Given the description of an element on the screen output the (x, y) to click on. 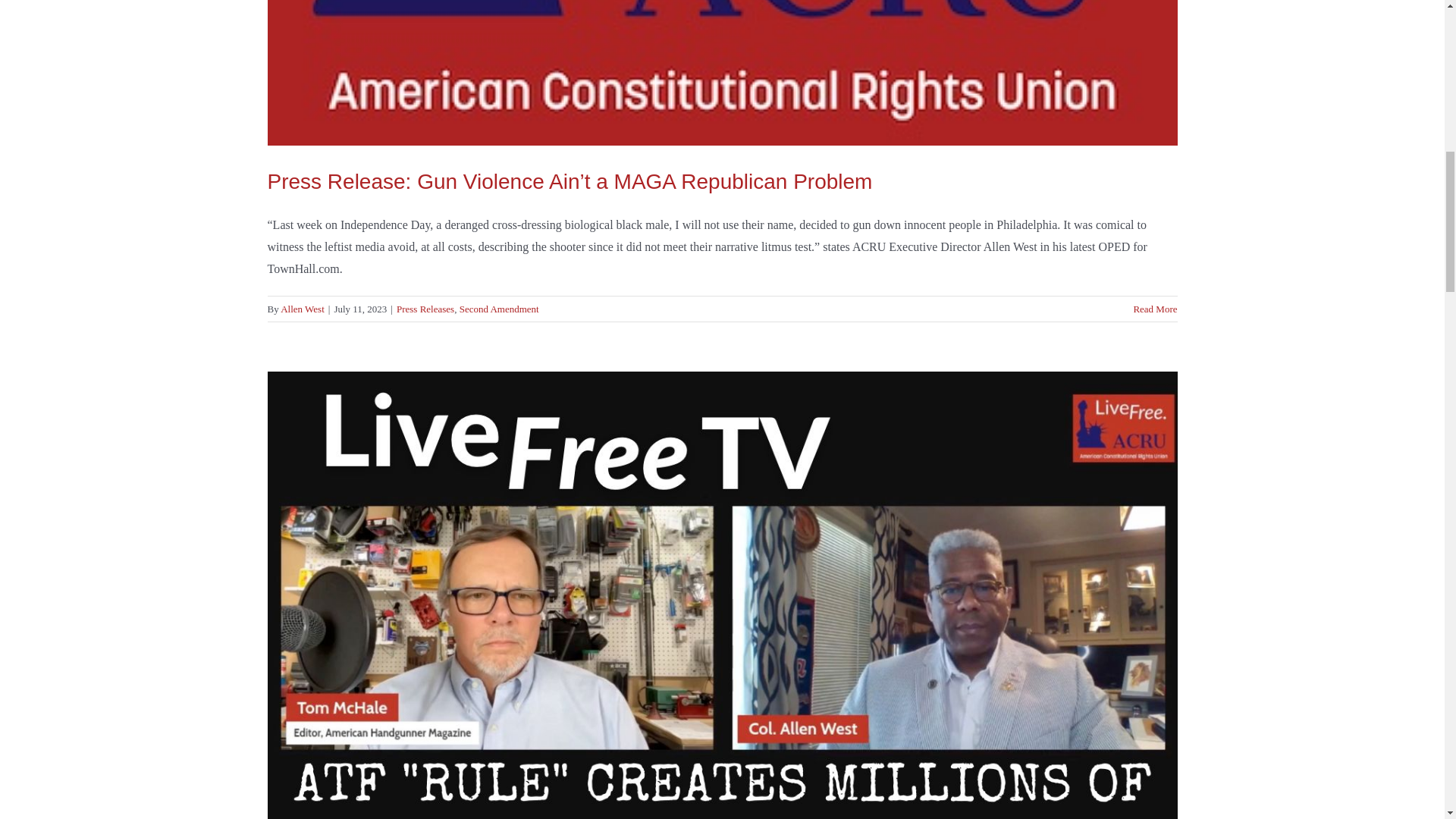
Posts by Allen West (302, 308)
